Given the description of an element on the screen output the (x, y) to click on. 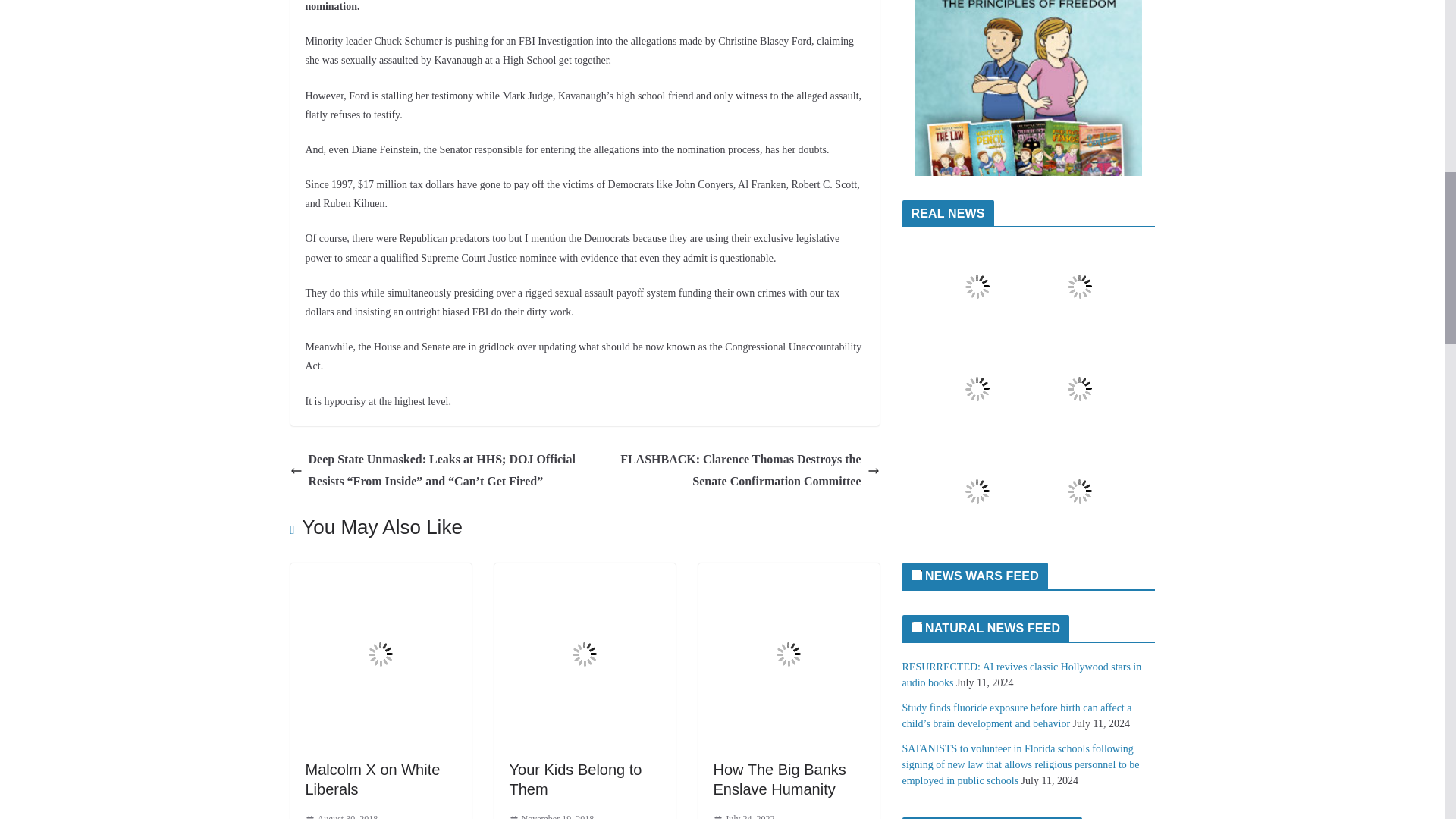
Malcolm X on White Liberals (379, 573)
Your Kids Belong to Them (575, 779)
6:24 pm (340, 815)
Malcolm X on White Liberals (371, 779)
Your Kids Belong to Them (585, 573)
